Given the description of an element on the screen output the (x, y) to click on. 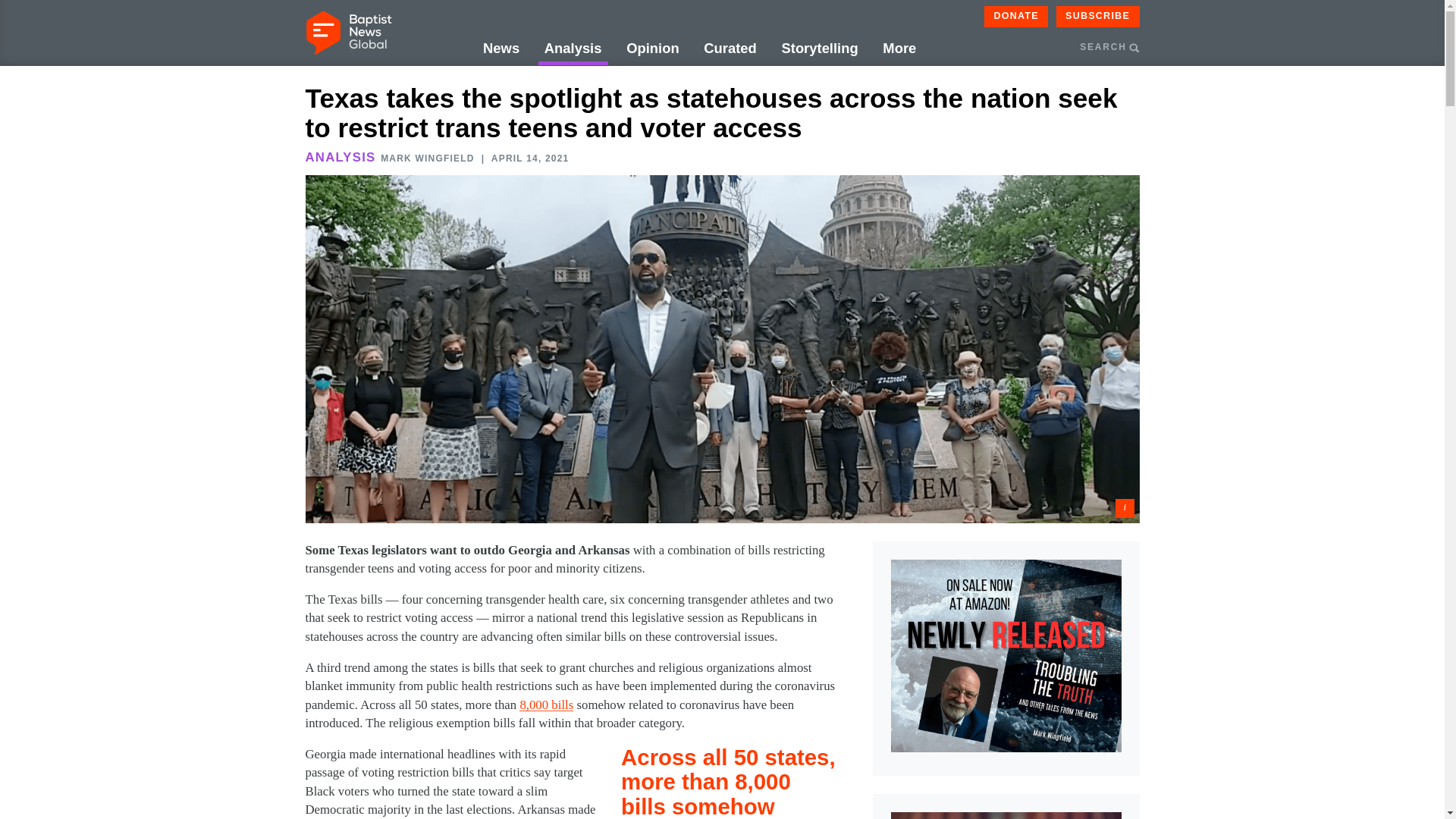
More (898, 49)
Search (1193, 119)
Posts by Mark Wingfield (427, 158)
Analysis (573, 49)
Curated (729, 49)
SUBSCRIBE (1098, 16)
News (501, 49)
Opinion (652, 49)
ANALYSIS (339, 156)
Storytelling (819, 49)
DONATE (1016, 16)
